Given the description of an element on the screen output the (x, y) to click on. 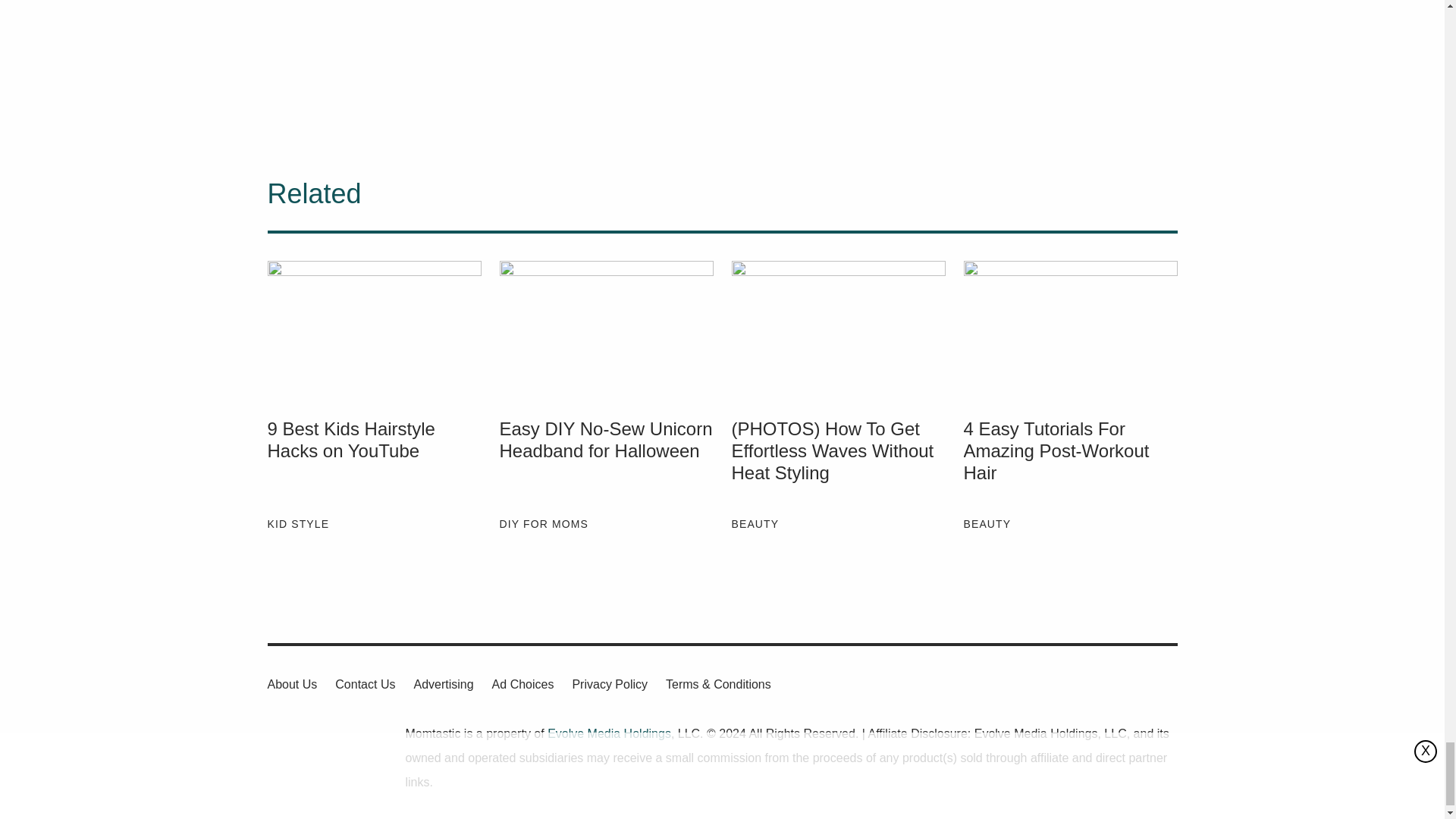
9 Best Kids Hairstyle Hacks on YouTube (373, 328)
9 Best Kids Hairstyle Hacks on YouTube (373, 462)
Easy DIY No-Sew Unicorn Headband for Halloween (606, 462)
Easy DIY No-Sew Unicorn Headband for Halloween (606, 328)
3rd party ad content (566, 64)
